Given the description of an element on the screen output the (x, y) to click on. 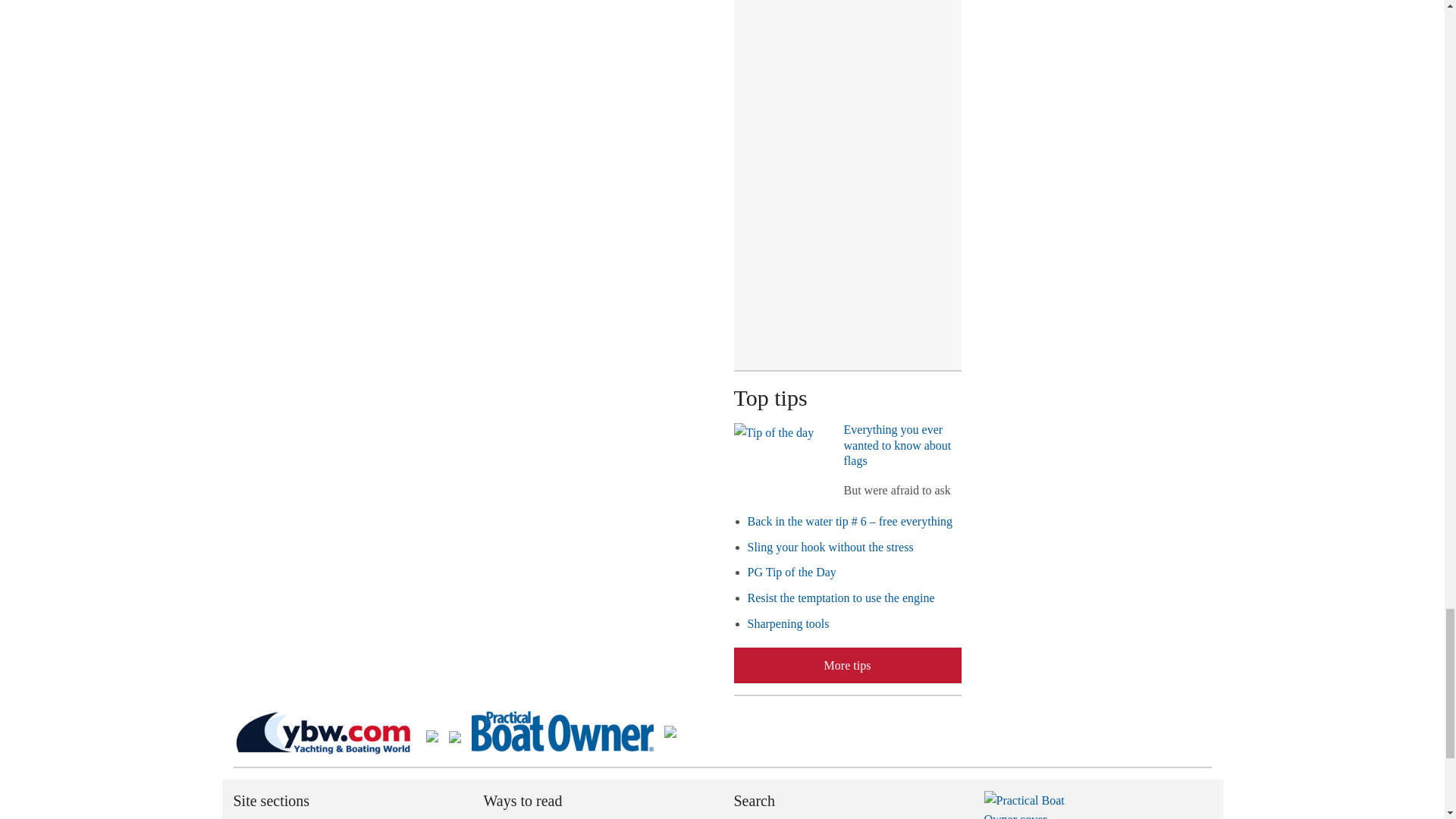
Latest Issue of Practical Boat Owner (1036, 805)
